Given the description of an element on the screen output the (x, y) to click on. 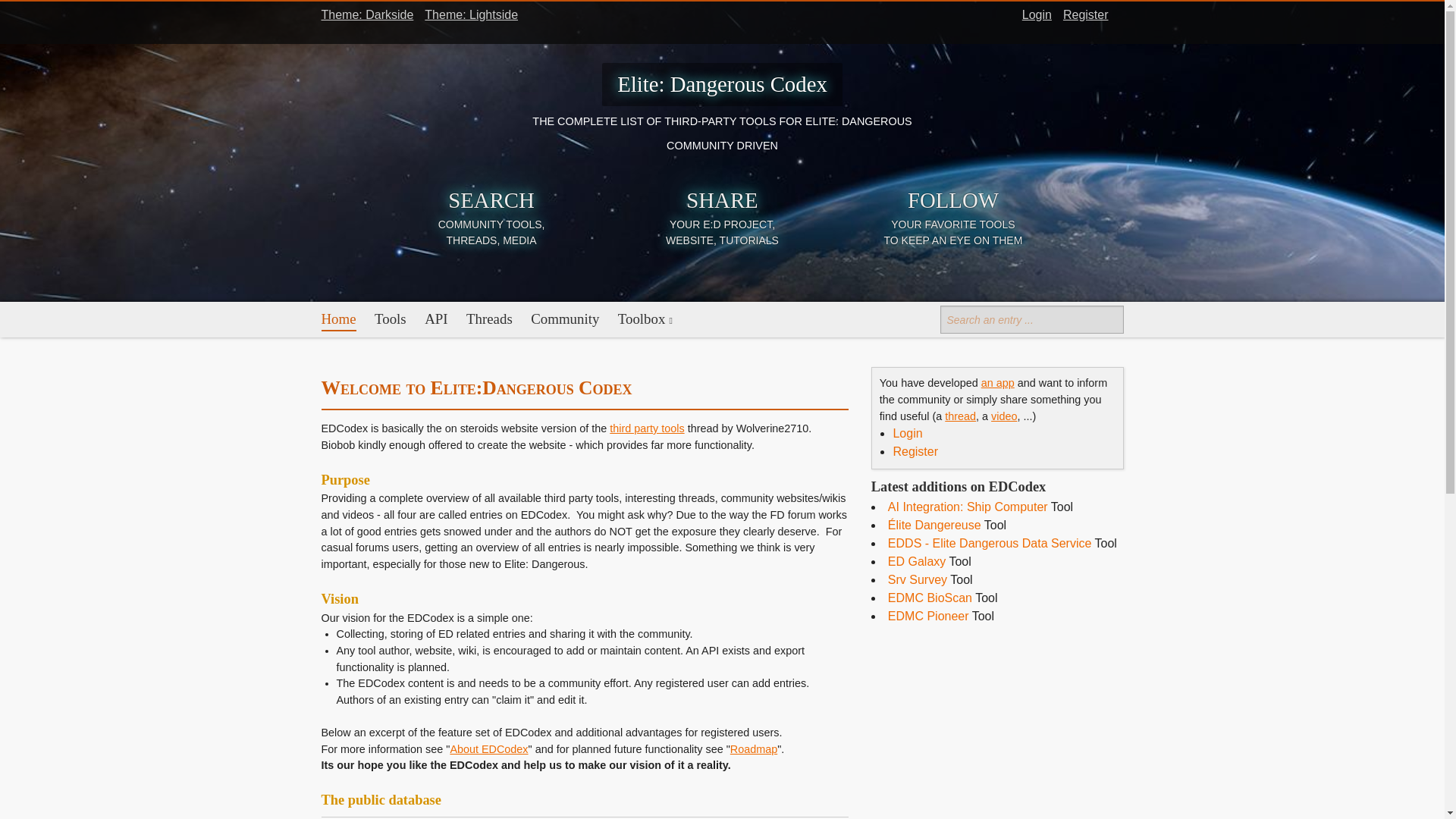
Login (1036, 14)
Theme: Lightside (471, 14)
ED Galaxy (916, 561)
an app (997, 382)
EDMC BioScan (930, 597)
Login (906, 432)
API (435, 320)
Theme: Darkside (367, 14)
EDDS - Elite Dangerous Data Service (990, 543)
Home (338, 320)
